Given the description of an element on the screen output the (x, y) to click on. 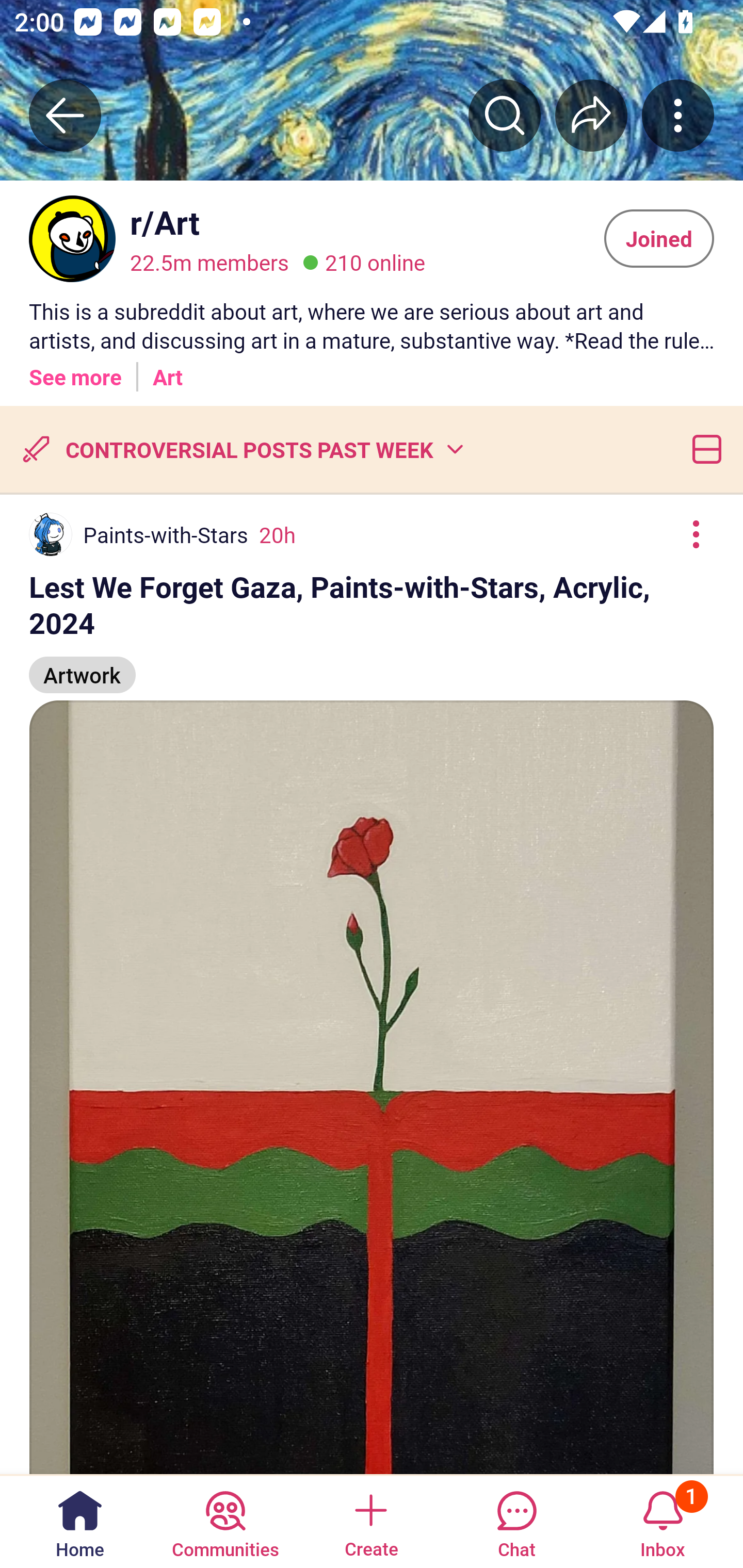
Back (64, 115)
Search r/﻿Art (504, 115)
Share r/﻿Art (591, 115)
More community actions (677, 115)
Controversial posts CONTROVERSIAL POSTS PAST WEEK (241, 449)
Card (703, 449)
Artwork (81, 665)
Home (80, 1520)
Communities (225, 1520)
Create a post Create (370, 1520)
Chat (516, 1520)
Inbox, has 1 notification 1 Inbox (662, 1520)
